Given the description of an element on the screen output the (x, y) to click on. 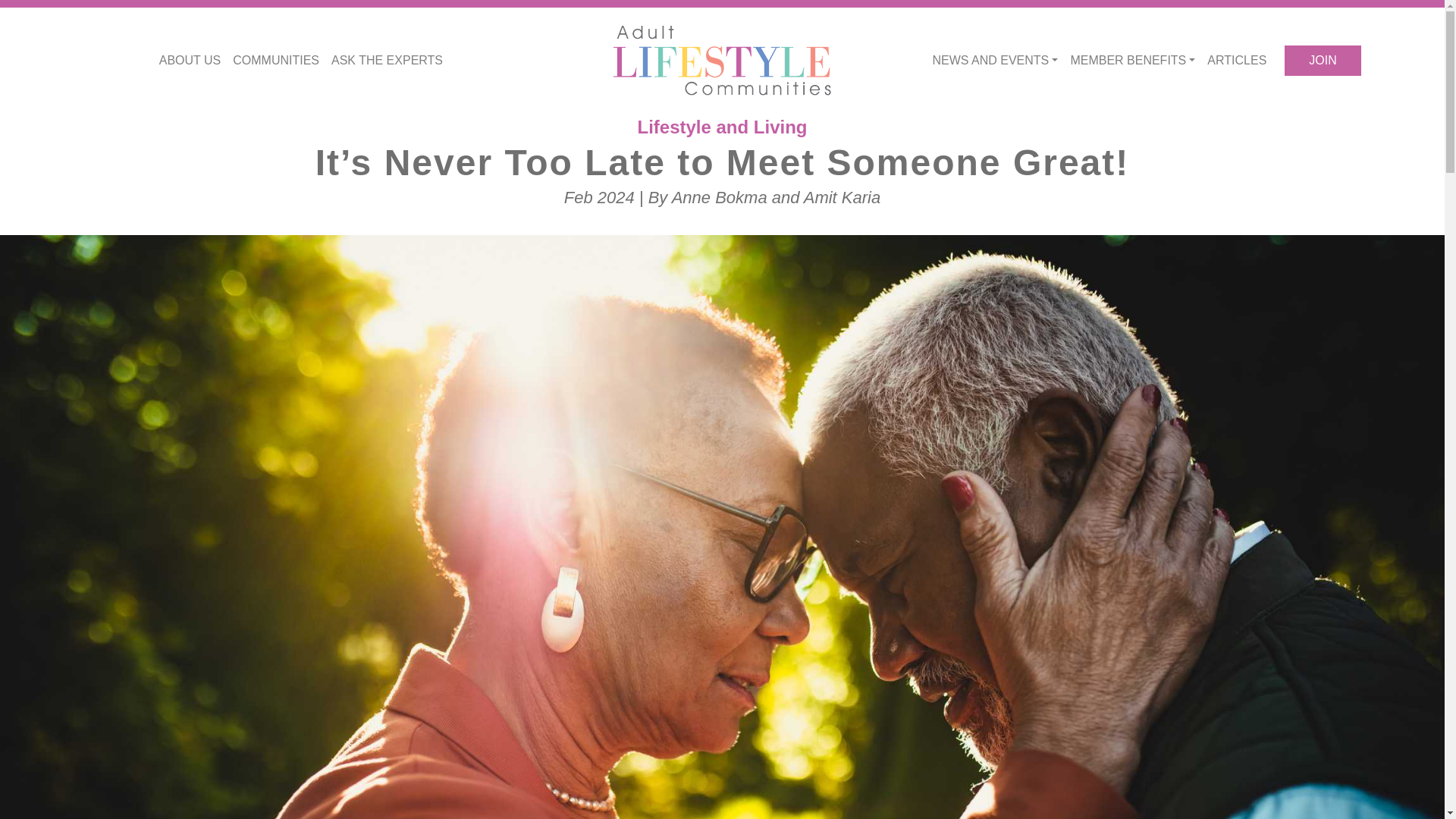
Communities (275, 60)
COMMUNITIES (275, 60)
Join (1321, 60)
ASK THE EXPERTS (386, 60)
Articles (1236, 60)
Member Benefits (1132, 60)
News and Events (995, 60)
NEWS AND EVENTS (995, 60)
Ask The Experts (386, 60)
ARTICLES (1236, 60)
MEMBER BENEFITS (1132, 60)
JOIN (1321, 60)
ABOUT US (189, 60)
About Us (189, 60)
